Given the description of an element on the screen output the (x, y) to click on. 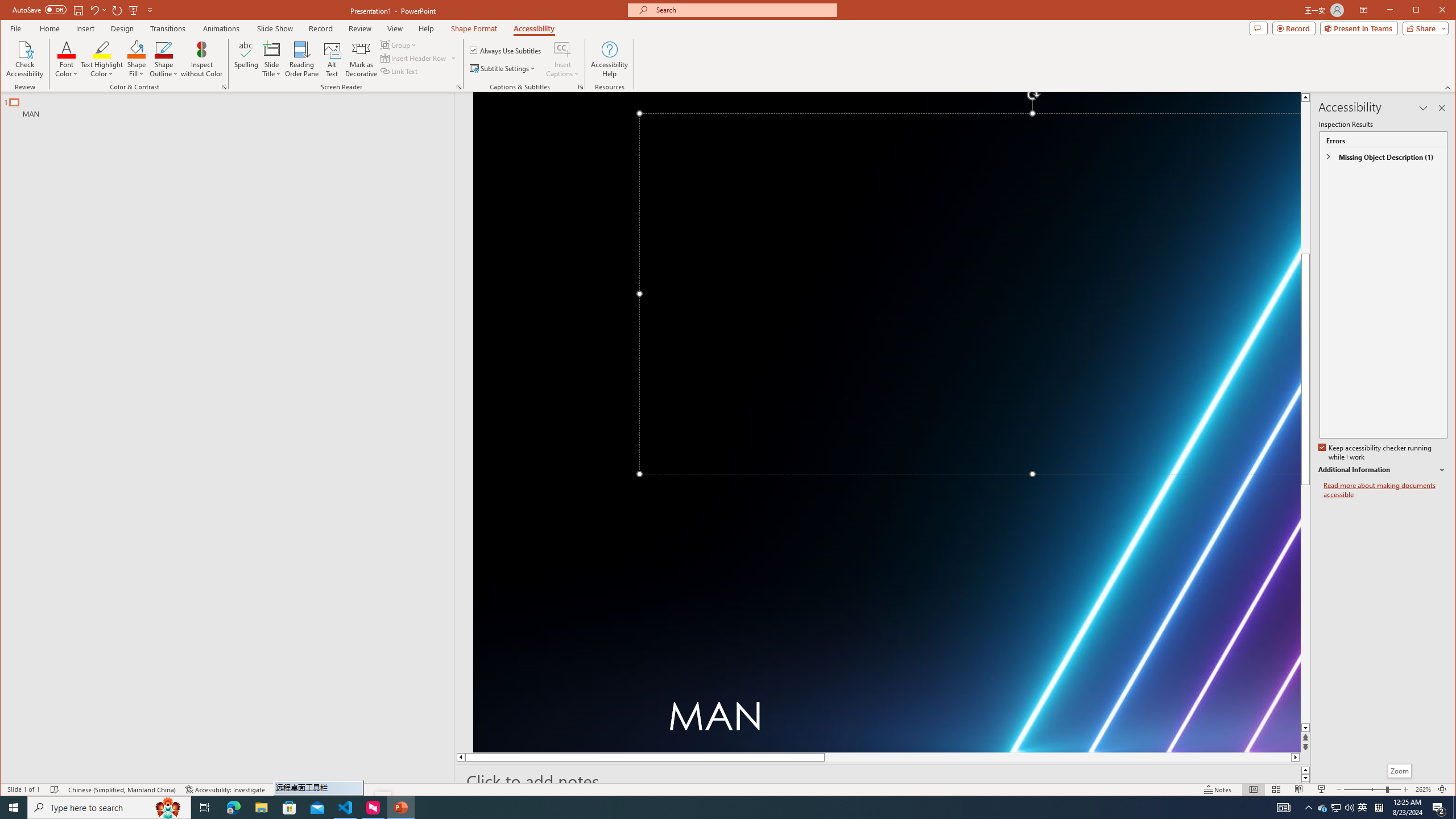
Q2790: 100% (1349, 807)
Alt Text (331, 59)
File Tab (15, 27)
Font Color (66, 59)
Insert Captions (562, 59)
Close pane (1441, 107)
Notes  (1217, 789)
Microsoft Edge (233, 807)
Task Pane Options (1422, 107)
Text Highlight Color (102, 59)
AutoSave (38, 9)
Rectangle (221, 436)
